Given the description of an element on the screen output the (x, y) to click on. 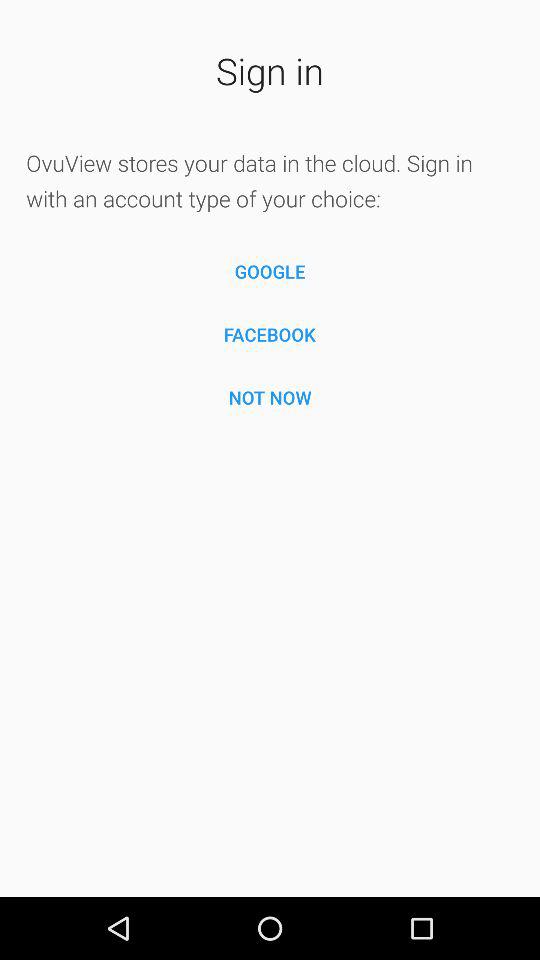
tap item below ovuview stores your icon (269, 271)
